Given the description of an element on the screen output the (x, y) to click on. 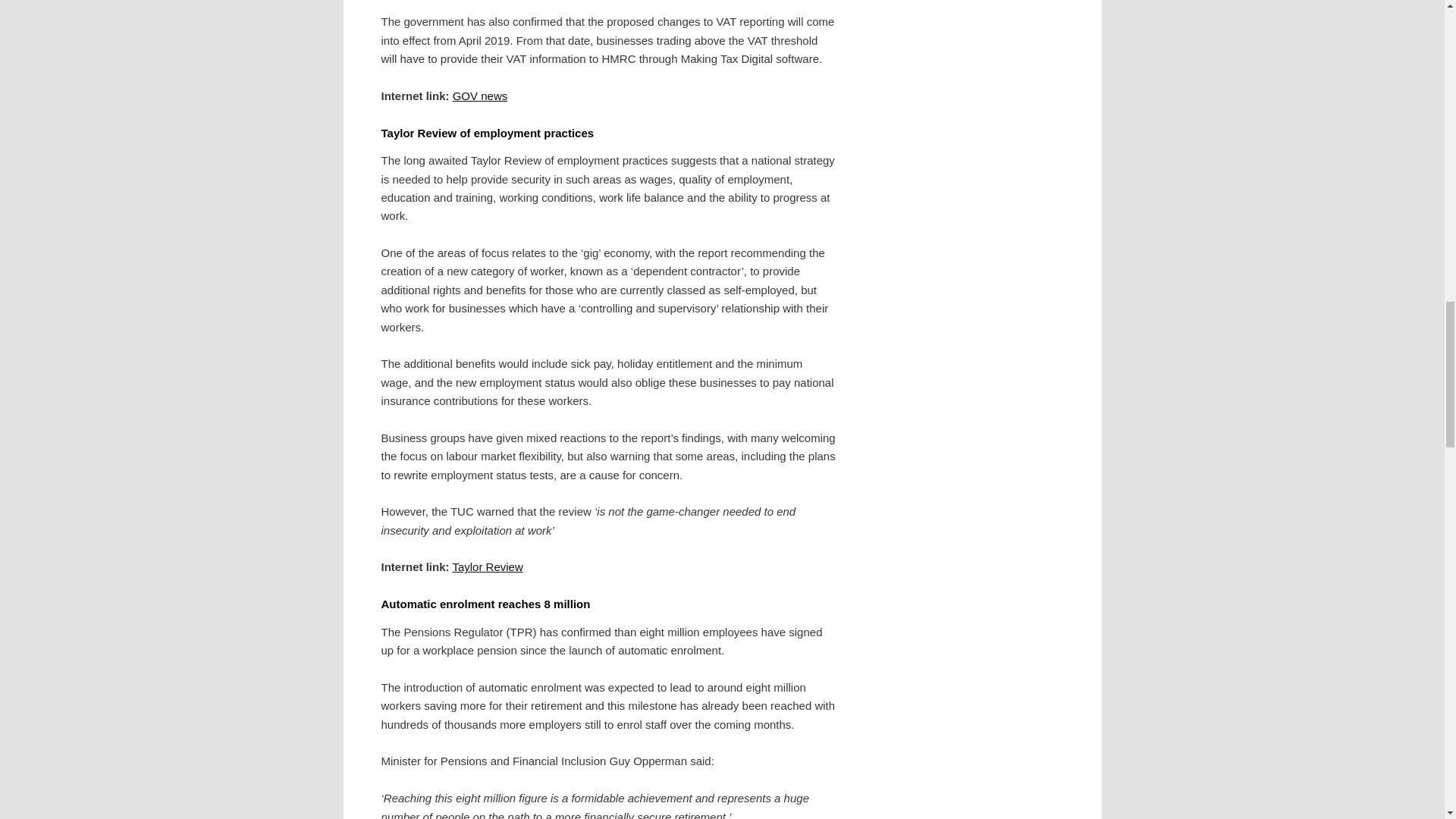
GOV news (480, 95)
Taylor Review (486, 566)
